Given the description of an element on the screen output the (x, y) to click on. 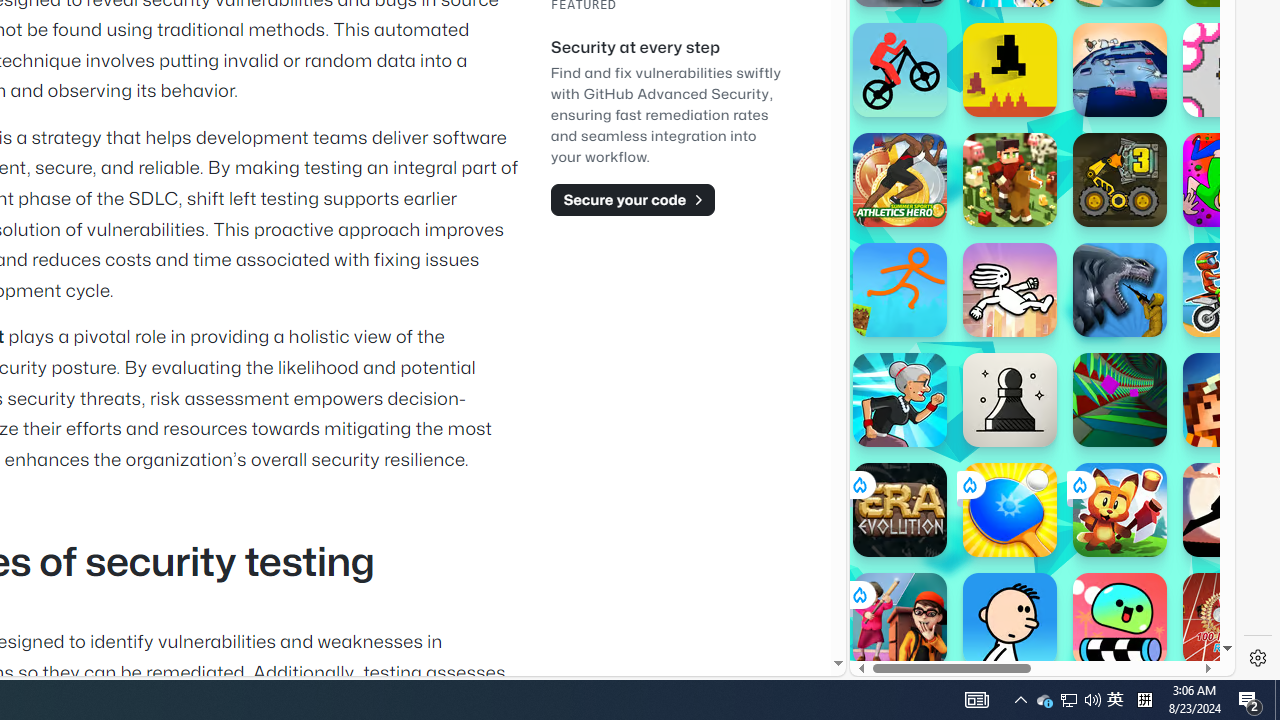
Click to scroll right (1196, 247)
Search results from poki.com (1005, 59)
Moto X3M Moto X3M (1229, 289)
The Speed Ninja (1229, 509)
Class: rCs5cyEiqiTpYvt_VBCR (858, 595)
Dreadhead Parkour Dreadhead Parkour (1009, 289)
Big Tower Tiny Square (1119, 69)
Poki (1034, 606)
